Given the description of an element on the screen output the (x, y) to click on. 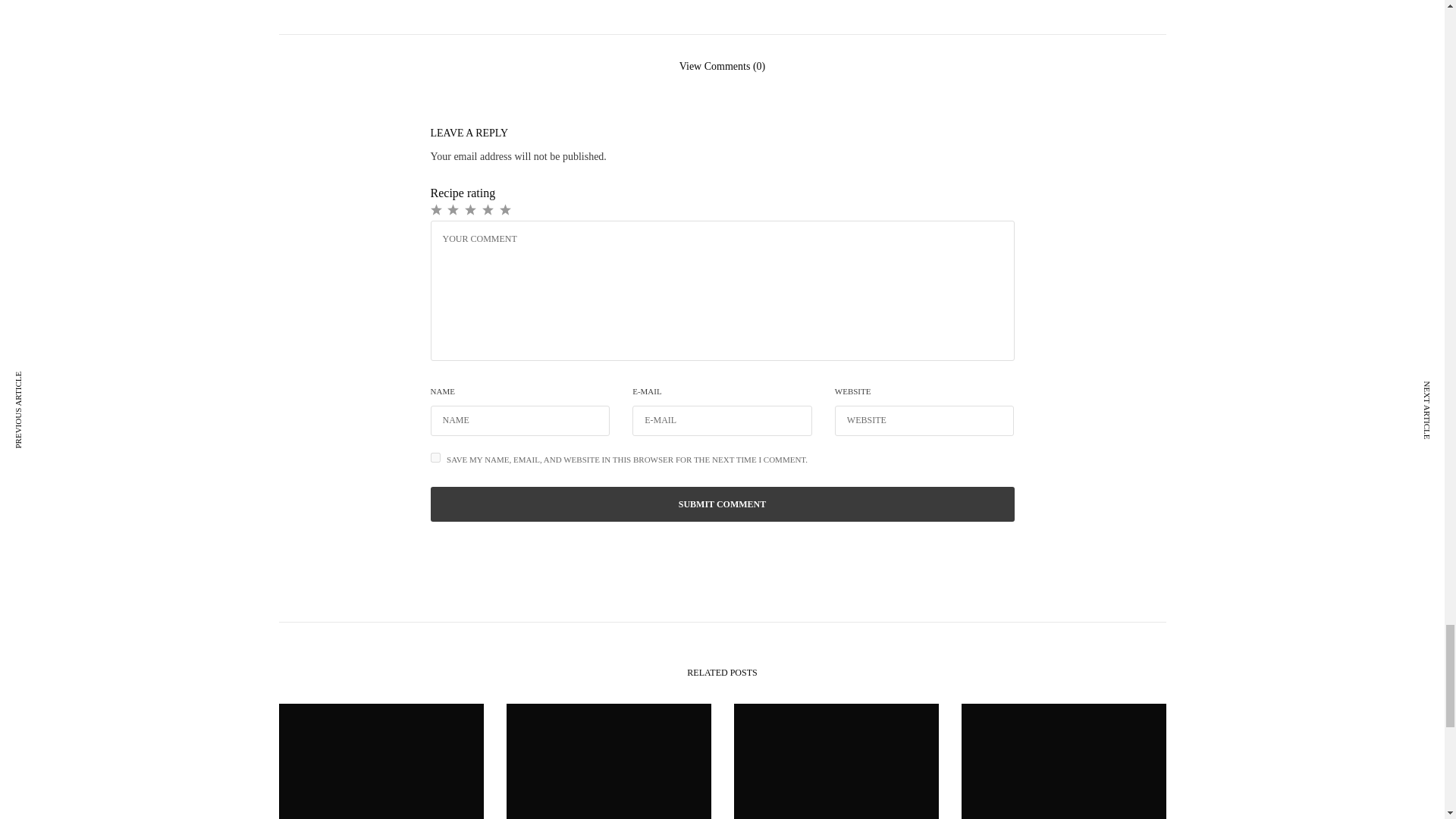
Submit Comment (722, 503)
yes (435, 457)
